Given the description of an element on the screen output the (x, y) to click on. 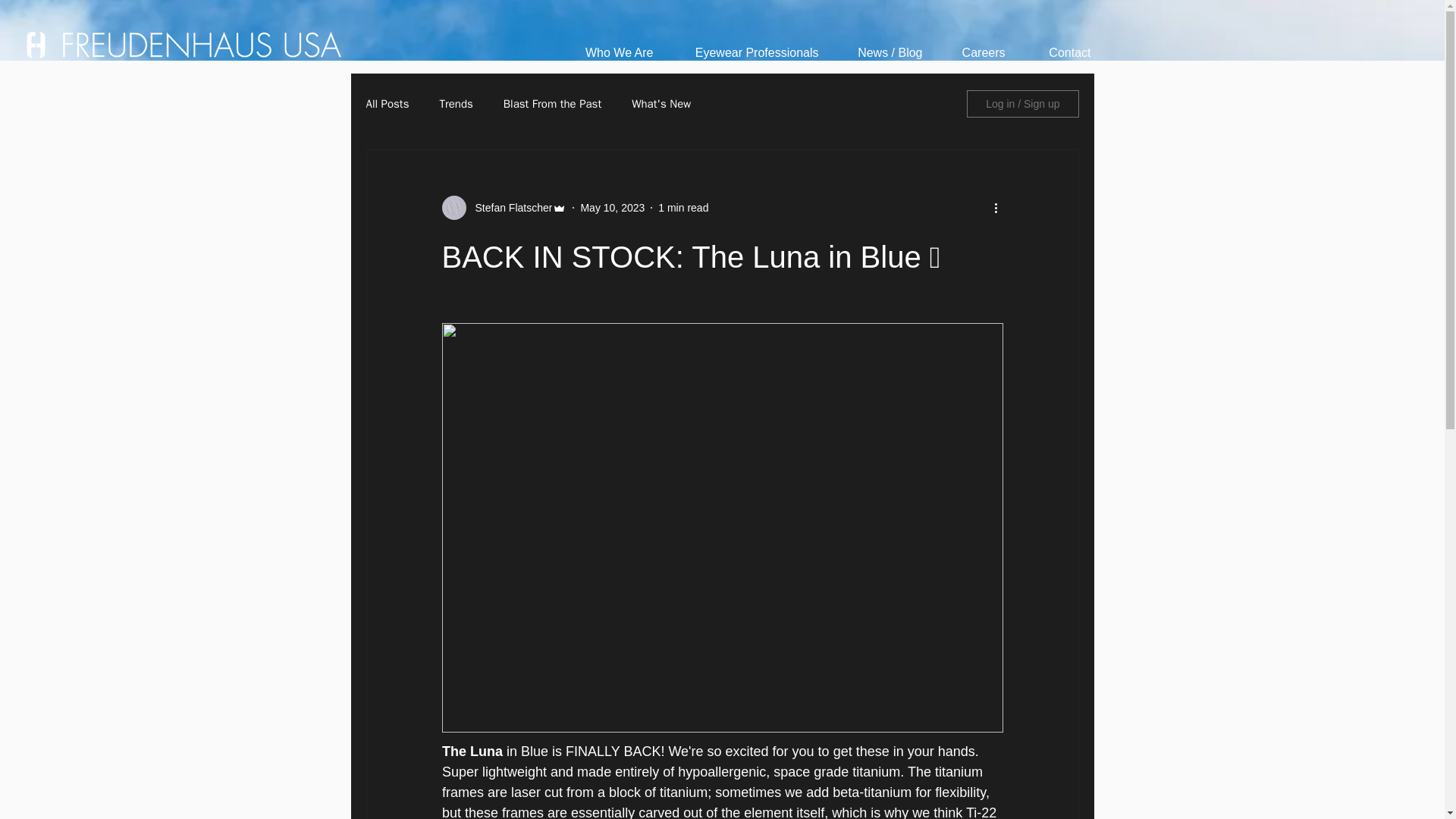
Careers (975, 52)
Contact (1059, 52)
1 min read (682, 207)
Trends (455, 104)
Stefan Flatscher (508, 207)
Blast From the Past (552, 104)
May 10, 2023 (612, 207)
What's New (660, 104)
Eyewear Professionals (746, 52)
Who We Are (609, 52)
The Luna  (473, 751)
All Posts (387, 104)
